Given the description of an element on the screen output the (x, y) to click on. 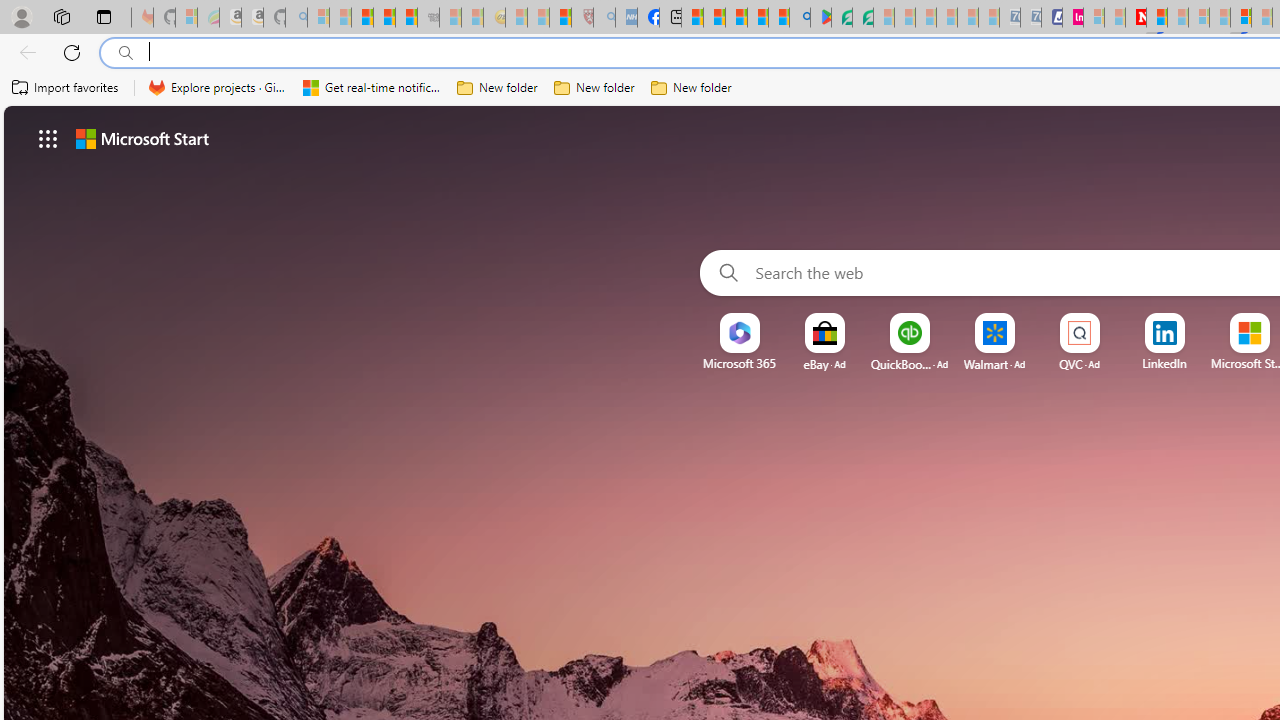
Local - MSN (560, 17)
Terms of Use Agreement (842, 17)
